Given the description of an element on the screen output the (x, y) to click on. 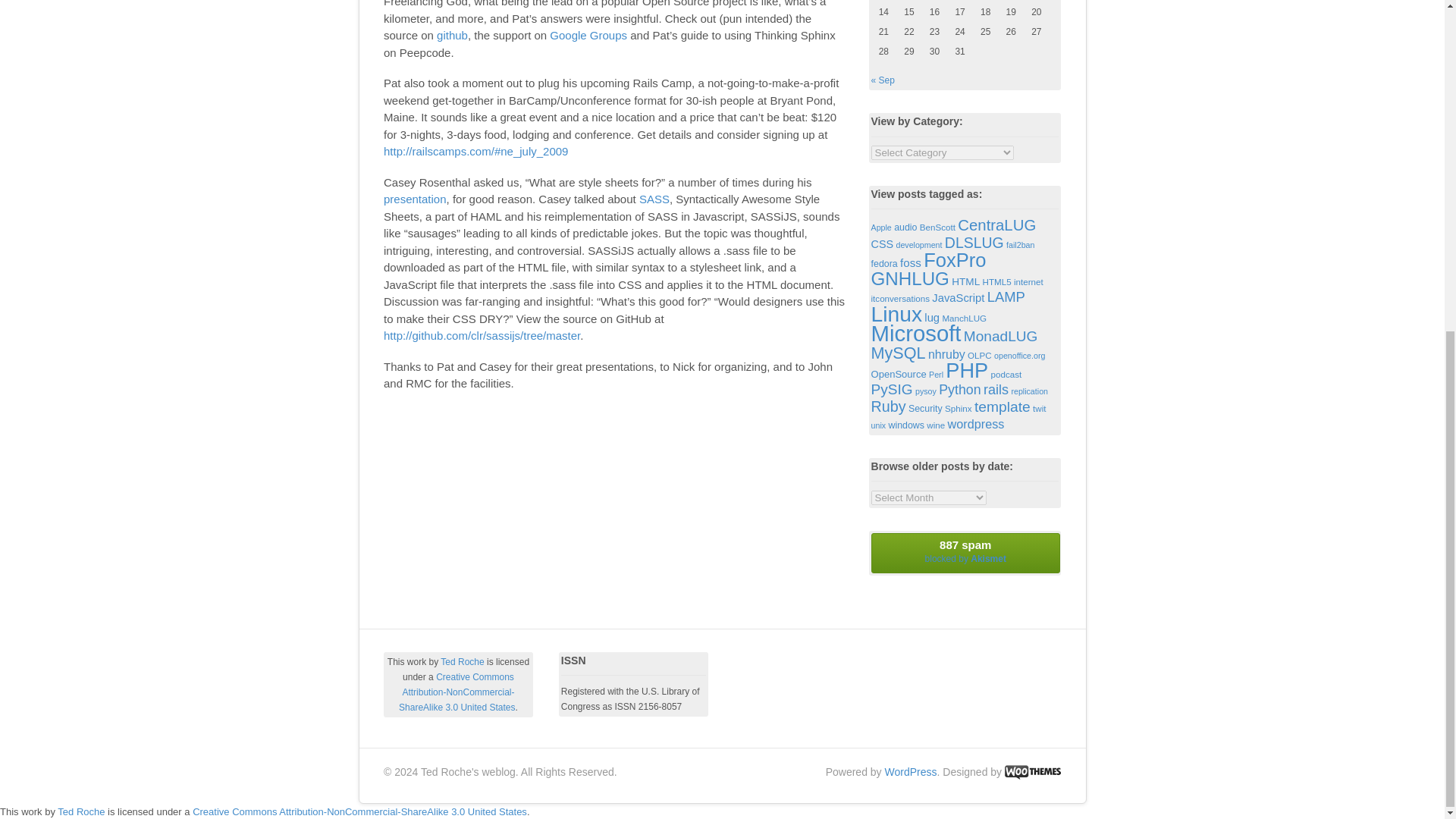
github (451, 34)
presentation (415, 198)
Google Groups (588, 34)
SASS (654, 198)
